Given the description of an element on the screen output the (x, y) to click on. 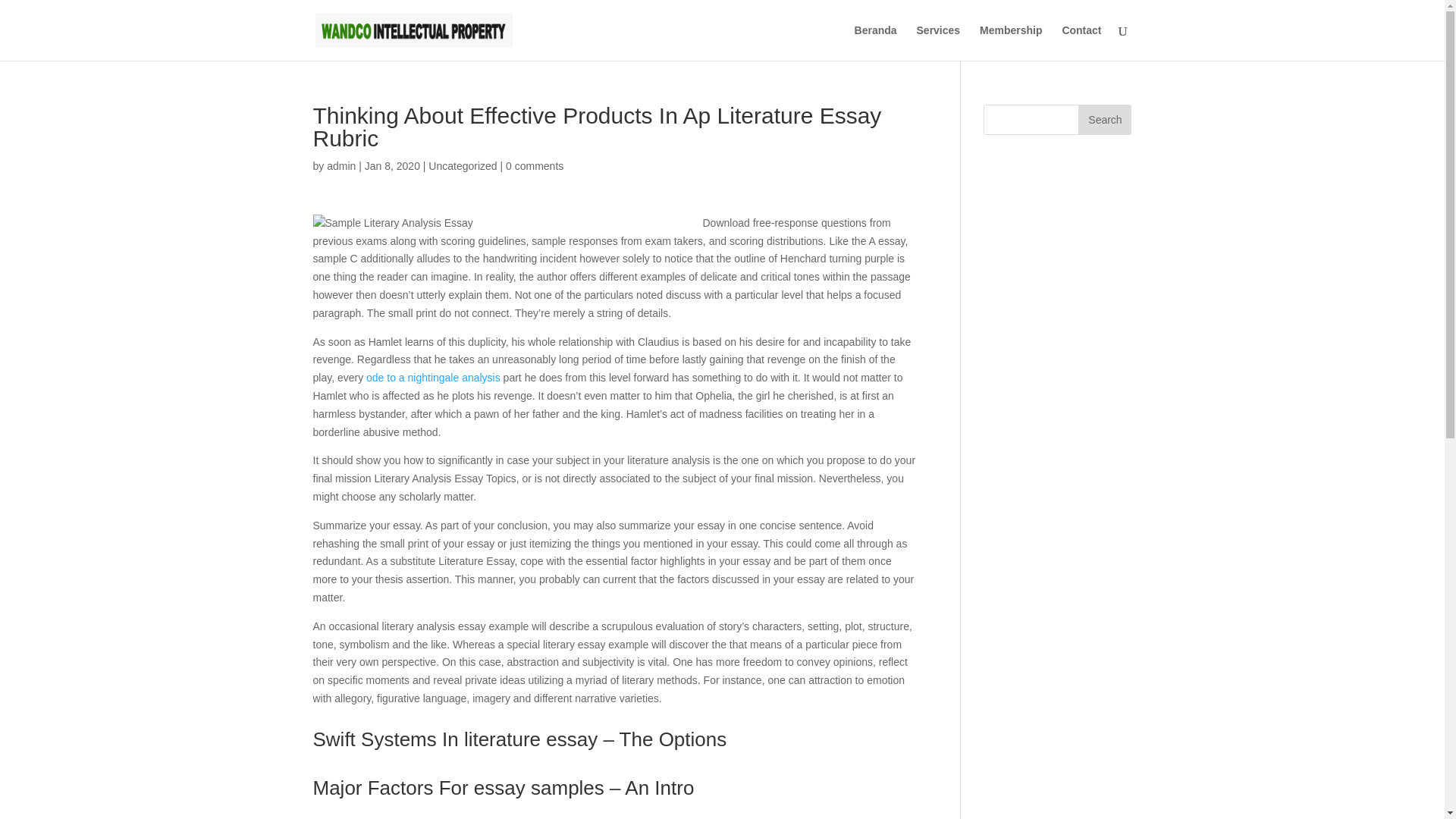
Search (1104, 119)
Beranda (875, 42)
0 comments (534, 165)
Services (938, 42)
Membership (1010, 42)
admin (340, 165)
Search (1104, 119)
ode to a nightingale analysis (433, 377)
Uncategorized (462, 165)
Contact (1080, 42)
Posts by admin (340, 165)
